Given the description of an element on the screen output the (x, y) to click on. 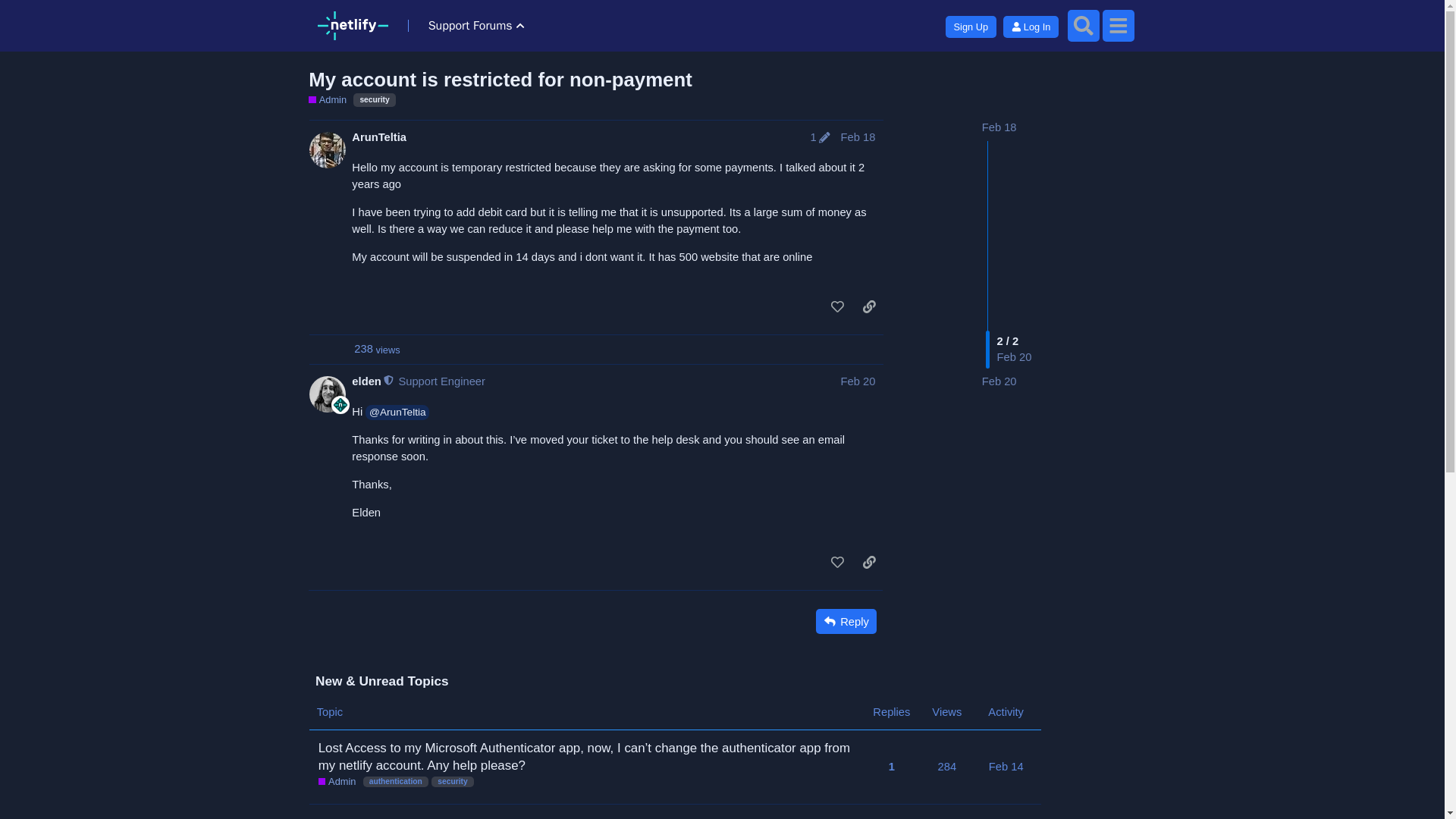
Post date (858, 381)
Home (352, 25)
Admin (337, 781)
Feb 14 (1006, 766)
authentication (395, 781)
like this post (837, 561)
Feb 18 (998, 127)
security (451, 781)
Feb 20 (858, 381)
Reply (845, 621)
